Given the description of an element on the screen output the (x, y) to click on. 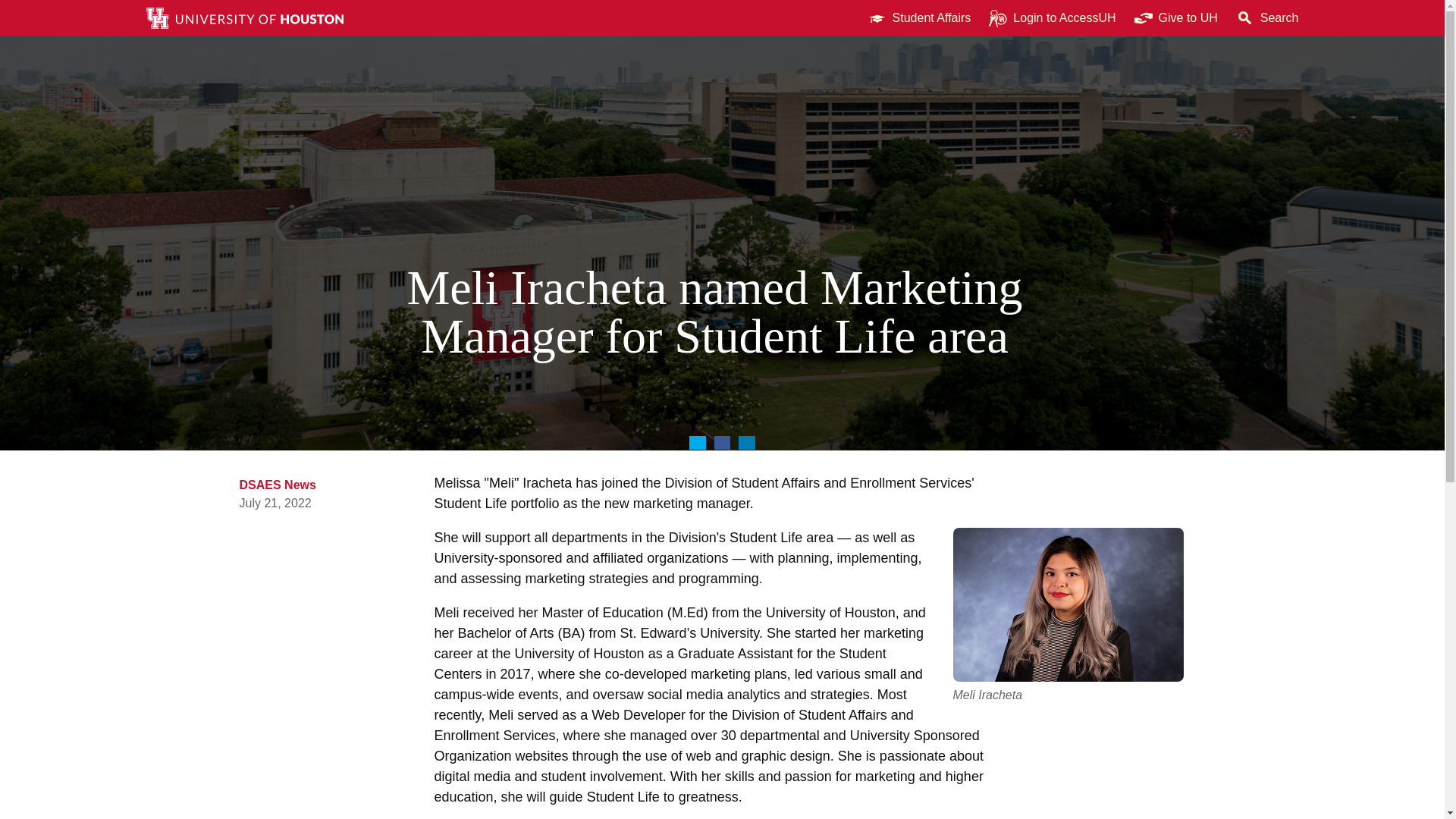
DSAES News (277, 484)
University of Houston (1208, 17)
Student Affairs (919, 18)
Search (1267, 18)
Give to UH (1176, 18)
Login to AccessUH (1051, 18)
